Given the description of an element on the screen output the (x, y) to click on. 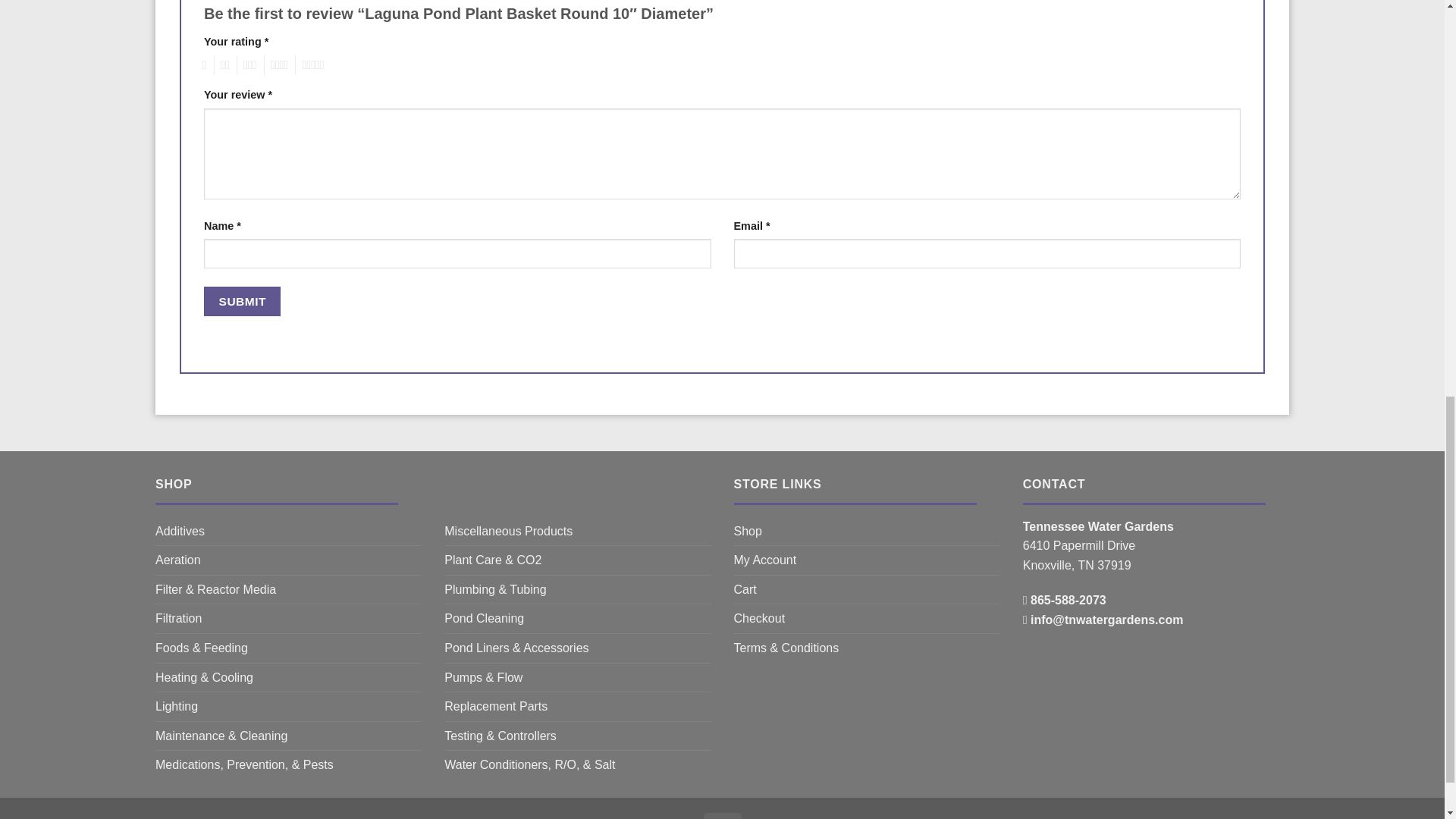
Submit (242, 301)
